Given the description of an element on the screen output the (x, y) to click on. 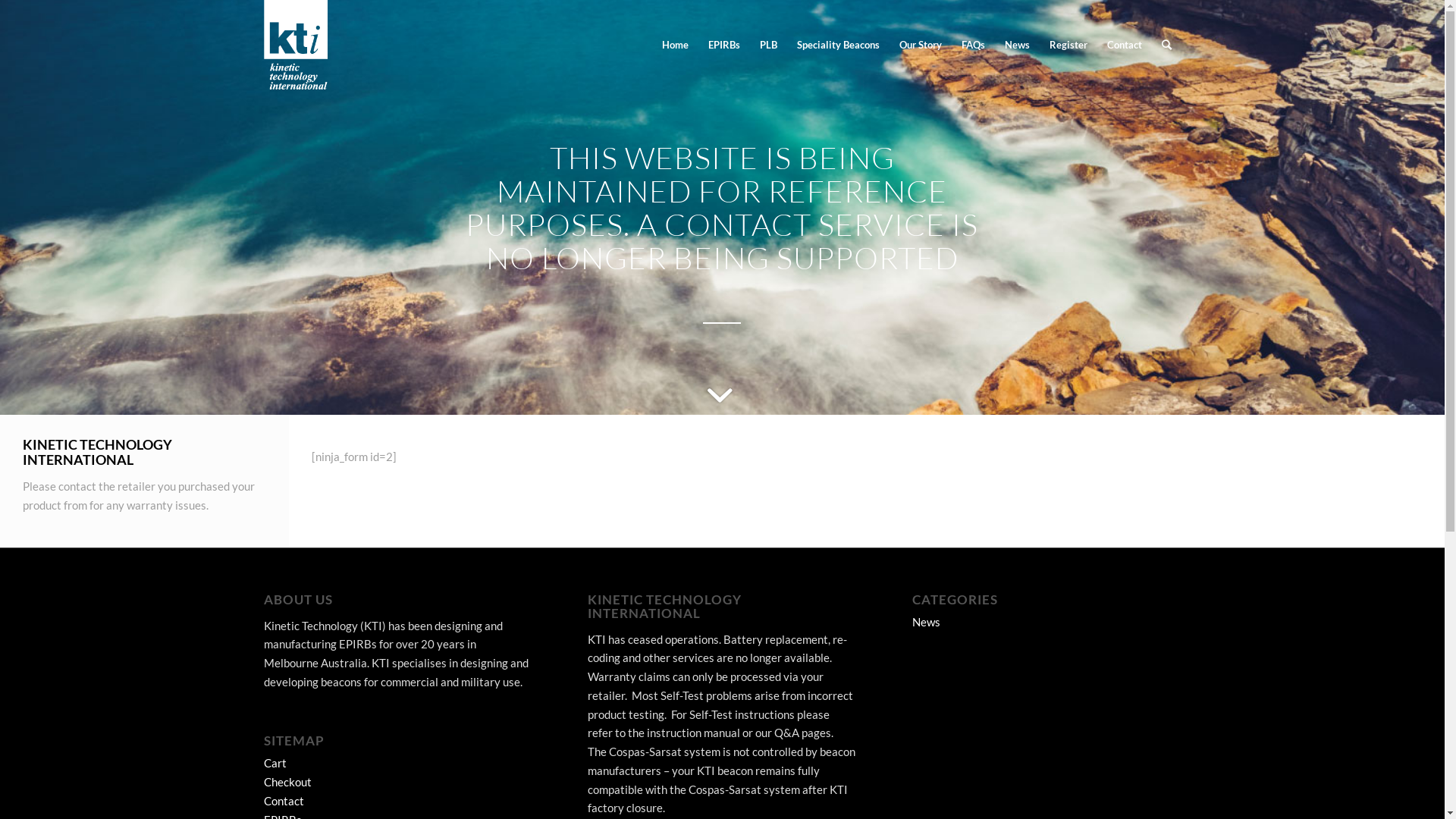
Checkout Element type: text (287, 781)
Register Element type: text (1067, 44)
FAQs Element type: text (972, 44)
Contact Element type: text (283, 800)
News Element type: text (926, 621)
PLB Element type: text (767, 44)
Our Story Element type: text (919, 44)
News Element type: text (1016, 44)
Speciality Beacons Element type: text (838, 44)
Contact Element type: text (1123, 44)
EPIRBs Element type: text (723, 44)
Cart Element type: text (274, 762)
Home Element type: text (675, 44)
